Given the description of an element on the screen output the (x, y) to click on. 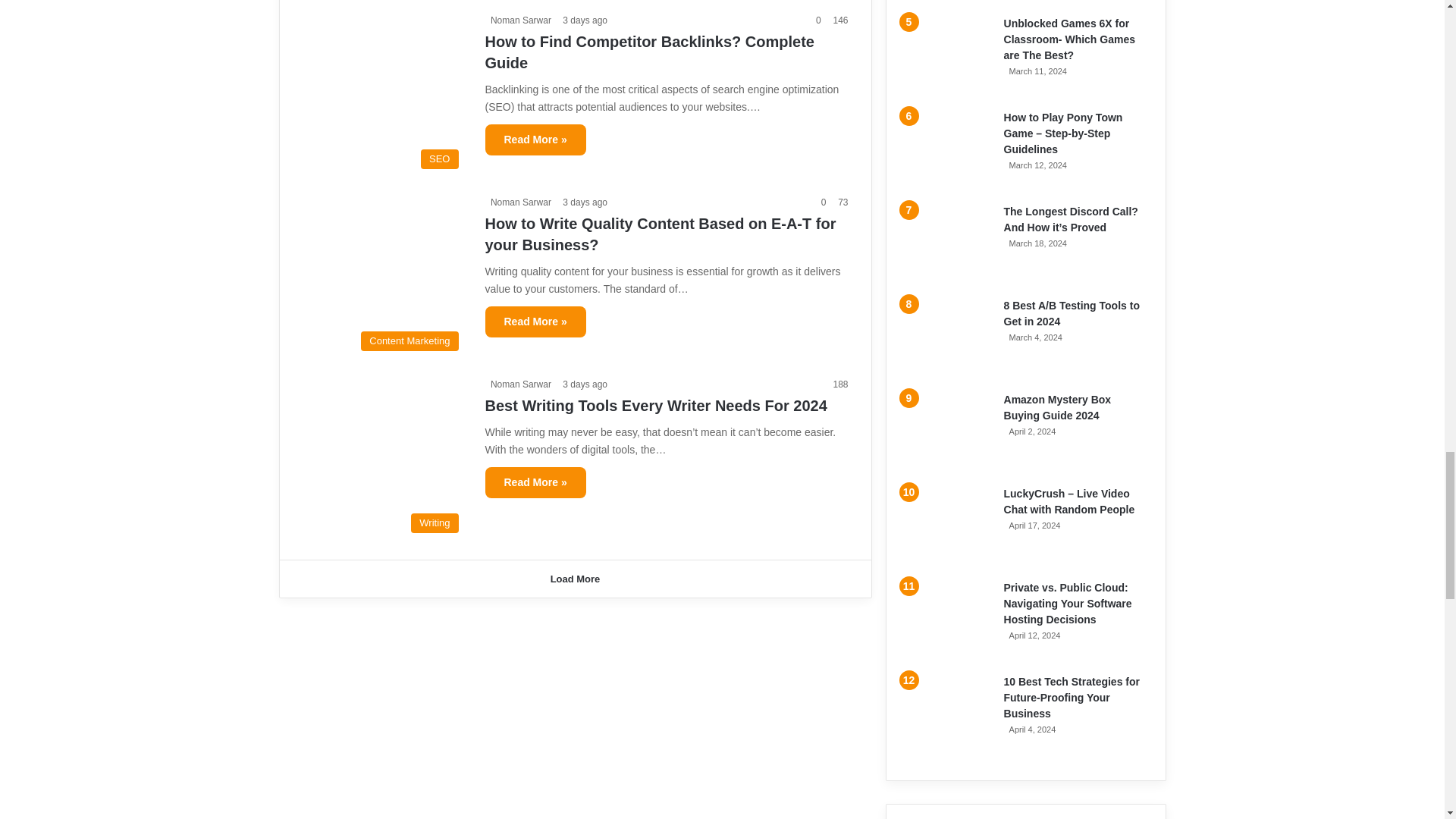
Noman Sarwar (517, 20)
Noman Sarwar (517, 384)
Noman Sarwar (517, 202)
